Given the description of an element on the screen output the (x, y) to click on. 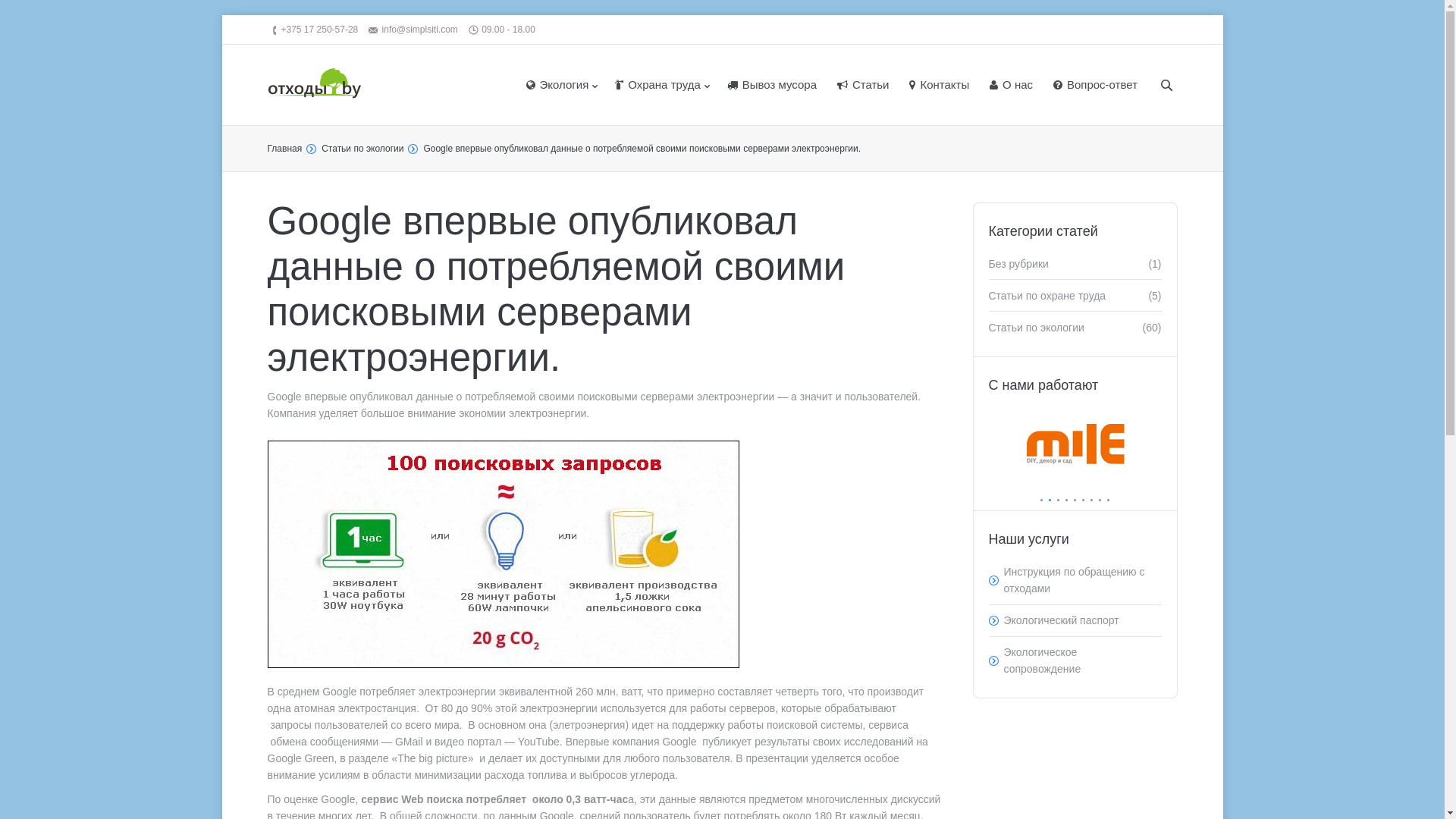
Go! Element type: text (15, 12)
